Given the description of an element on the screen output the (x, y) to click on. 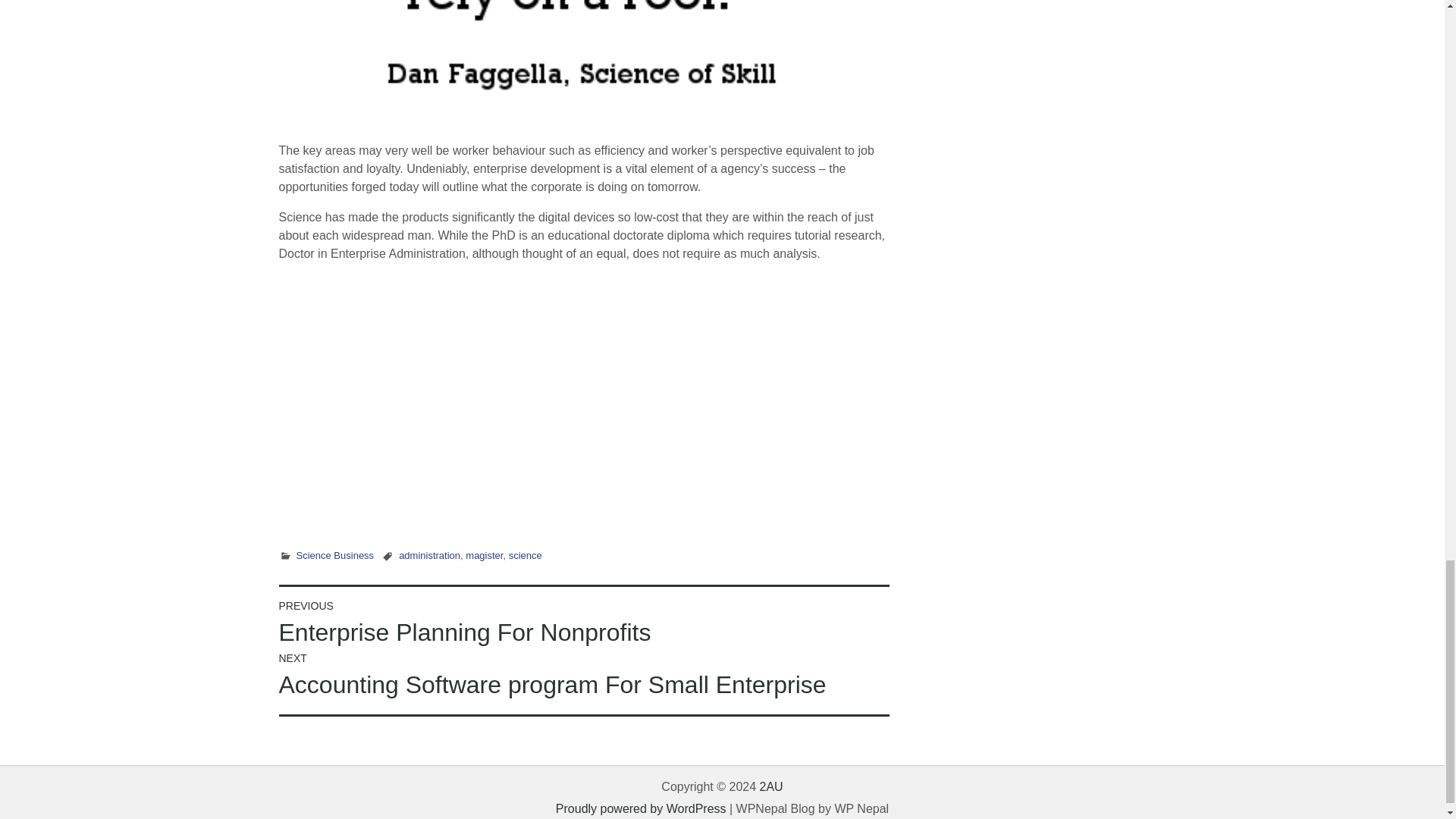
Science Business (334, 555)
